Given the description of an element on the screen output the (x, y) to click on. 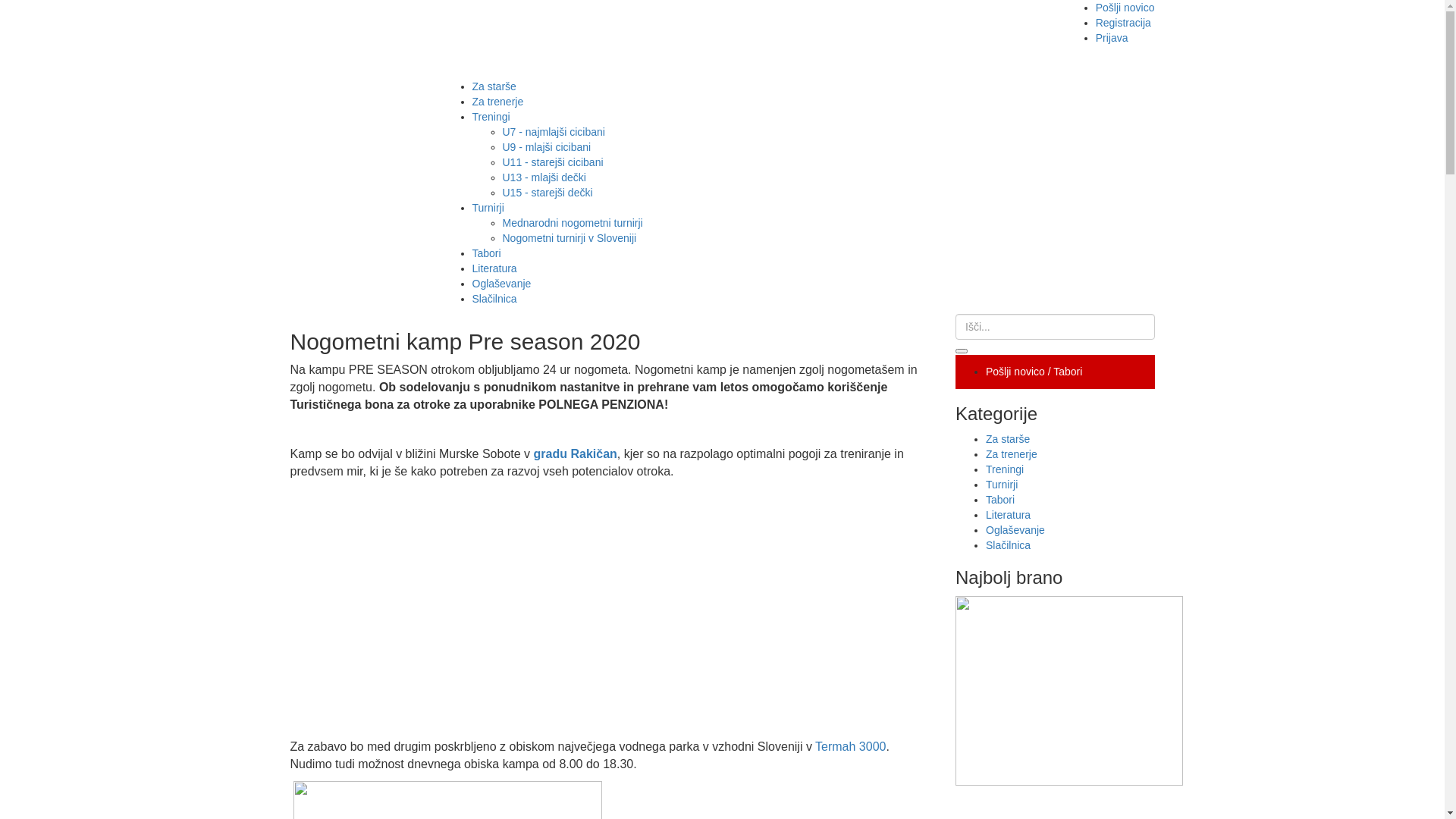
Tabori Element type: text (485, 253)
Registracija Element type: text (1123, 22)
Literatura Element type: text (1007, 514)
Za trenerje Element type: text (497, 101)
Turnirji Element type: text (1001, 484)
Literatura Element type: text (493, 268)
Nogometni turnirji v Sloveniji Element type: text (569, 238)
Za trenerje Element type: text (1011, 454)
Treningi Element type: text (490, 116)
Termah 3000 Element type: text (850, 746)
Treningi Element type: text (1004, 469)
Prijava Element type: text (1111, 37)
Mednarodni nogometni turnirji Element type: text (572, 222)
Turnirji Element type: text (487, 207)
Tabori Element type: text (999, 499)
